Given the description of an element on the screen output the (x, y) to click on. 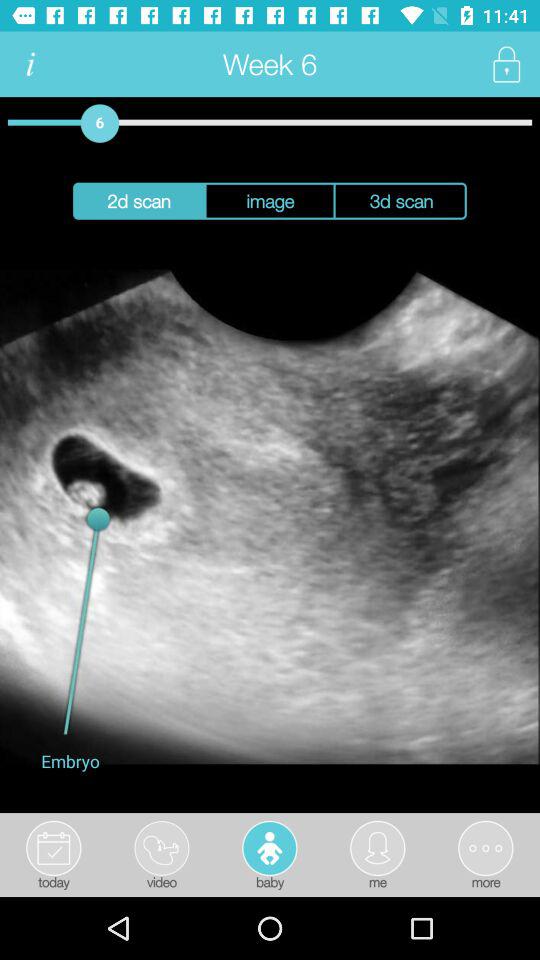
lock picture (506, 63)
